Given the description of an element on the screen output the (x, y) to click on. 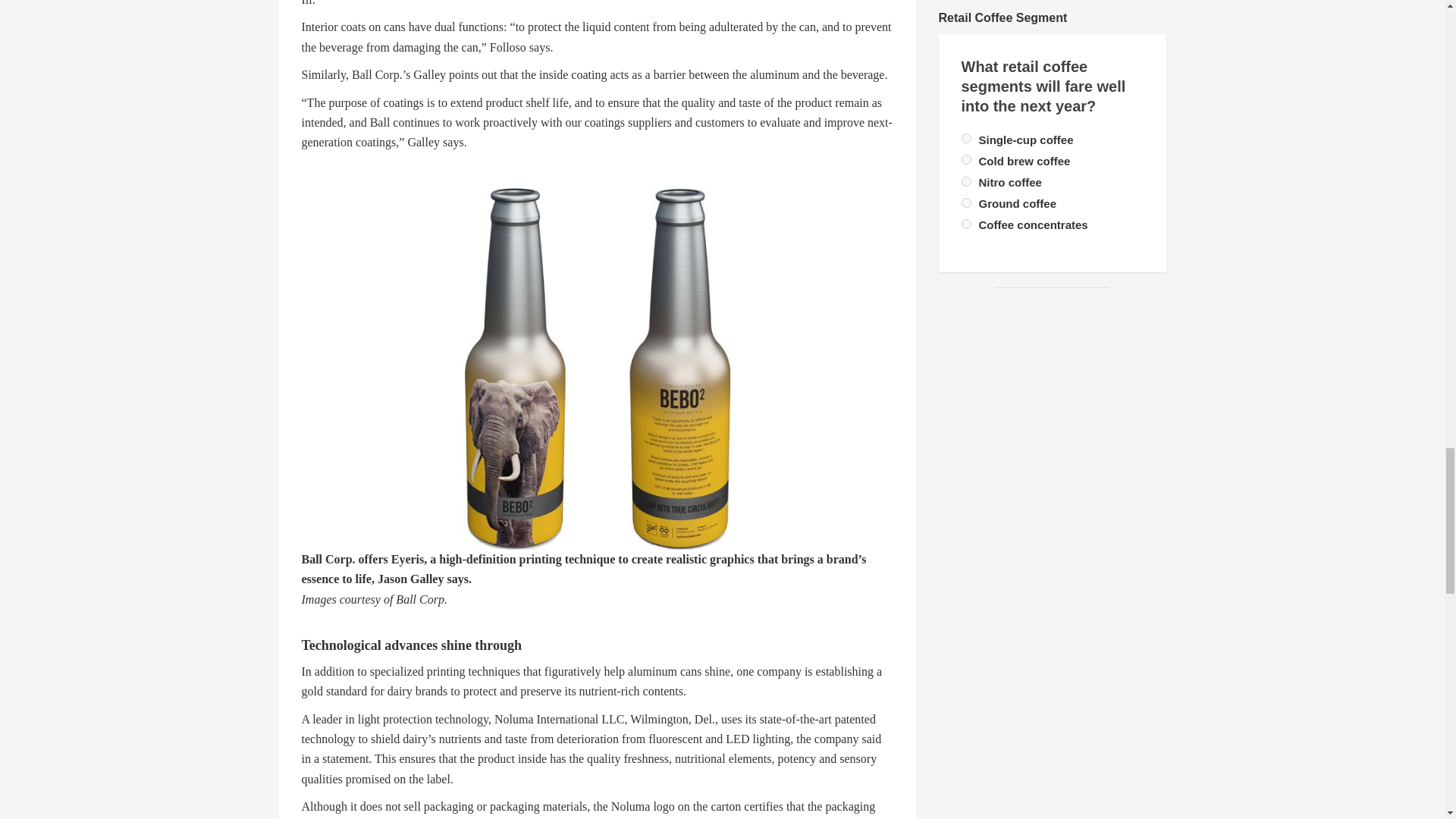
3092 (965, 138)
3094 (965, 181)
3095 (965, 224)
3093 (965, 159)
3096 (965, 203)
